Given the description of an element on the screen output the (x, y) to click on. 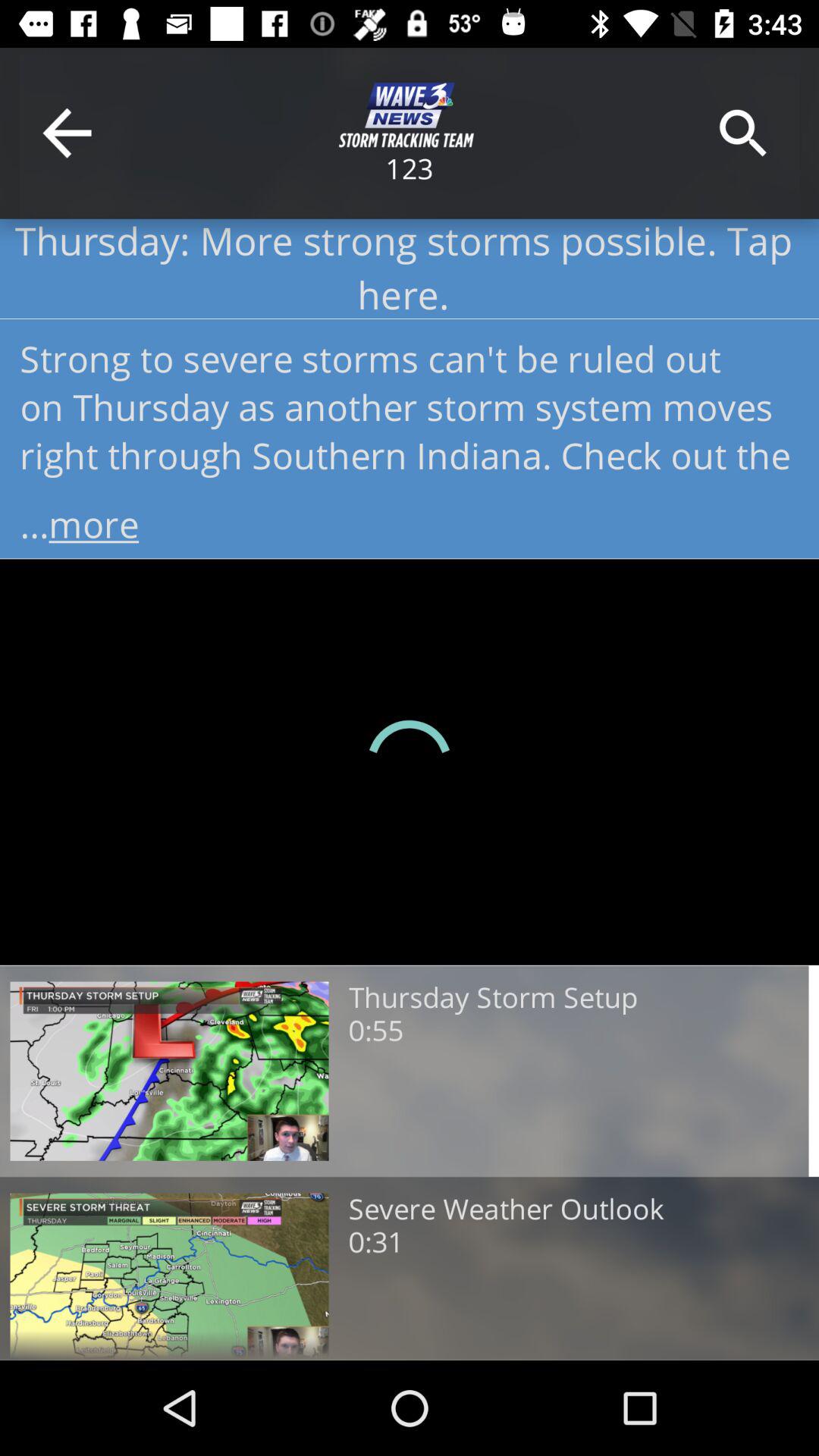
launch the item below strong to severe (409, 518)
